Given the description of an element on the screen output the (x, y) to click on. 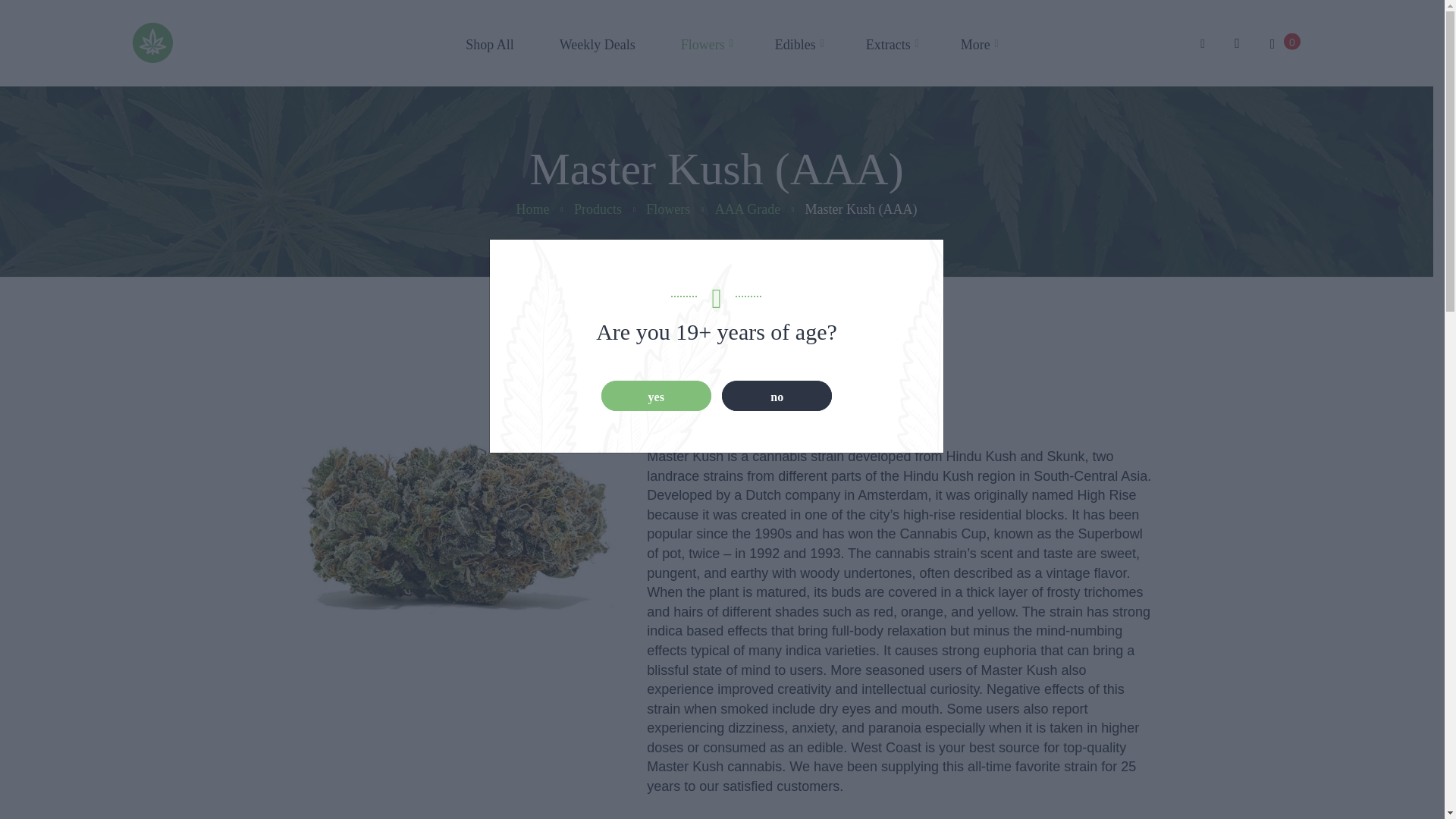
Go to the Flowers Category archives. (668, 209)
Go to Products. (597, 209)
Go to Home. (533, 209)
0 (1282, 44)
Edibles (795, 45)
Weekly Deals (597, 45)
Go to the AAA Grade Category archives. (747, 209)
071822MASTERKUSH-1-1-1-1-1.jpg (454, 526)
More (963, 45)
Flowers (703, 45)
